Given the description of an element on the screen output the (x, y) to click on. 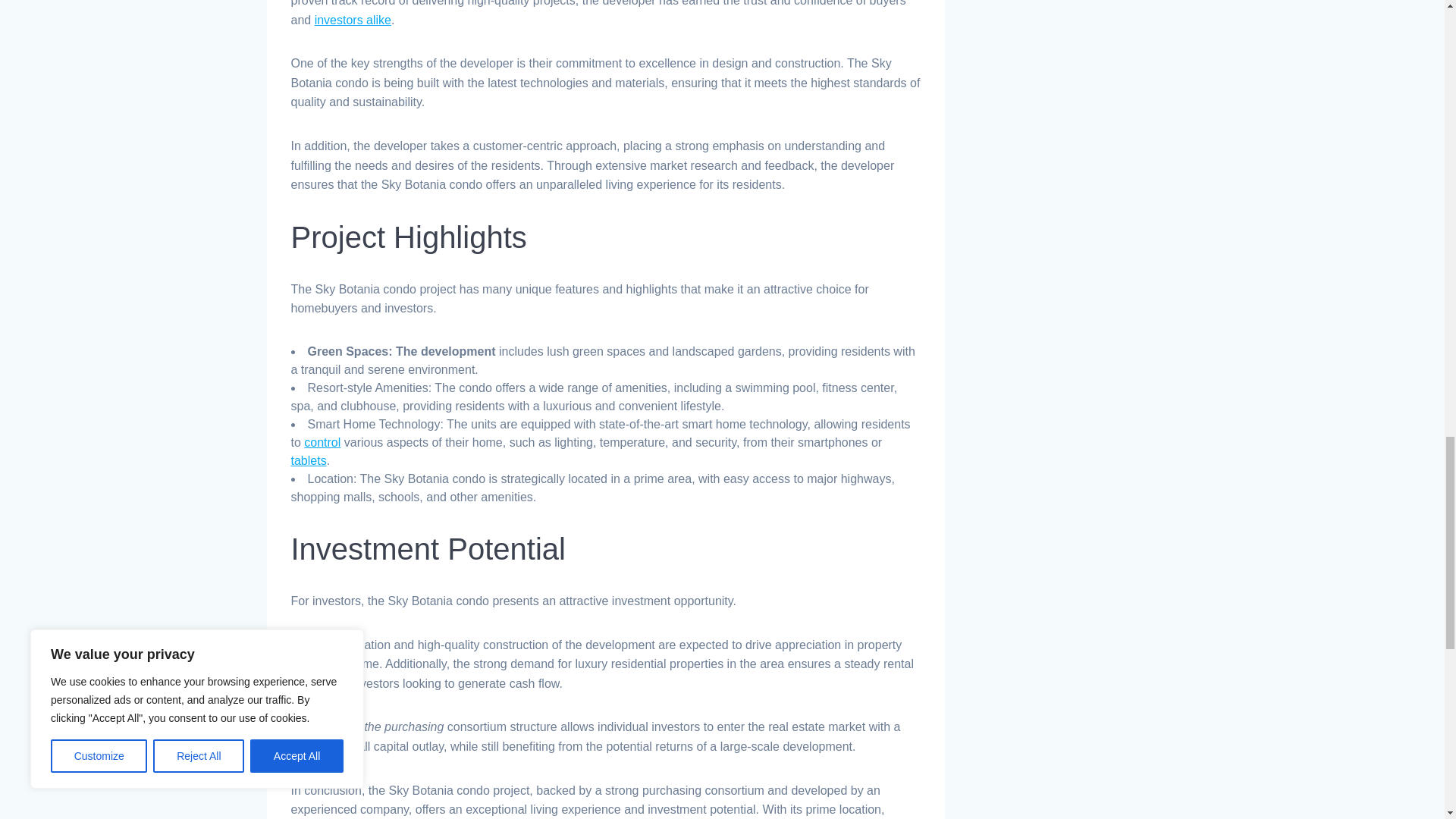
tablets (308, 460)
control (322, 441)
investors alike (352, 19)
